Given the description of an element on the screen output the (x, y) to click on. 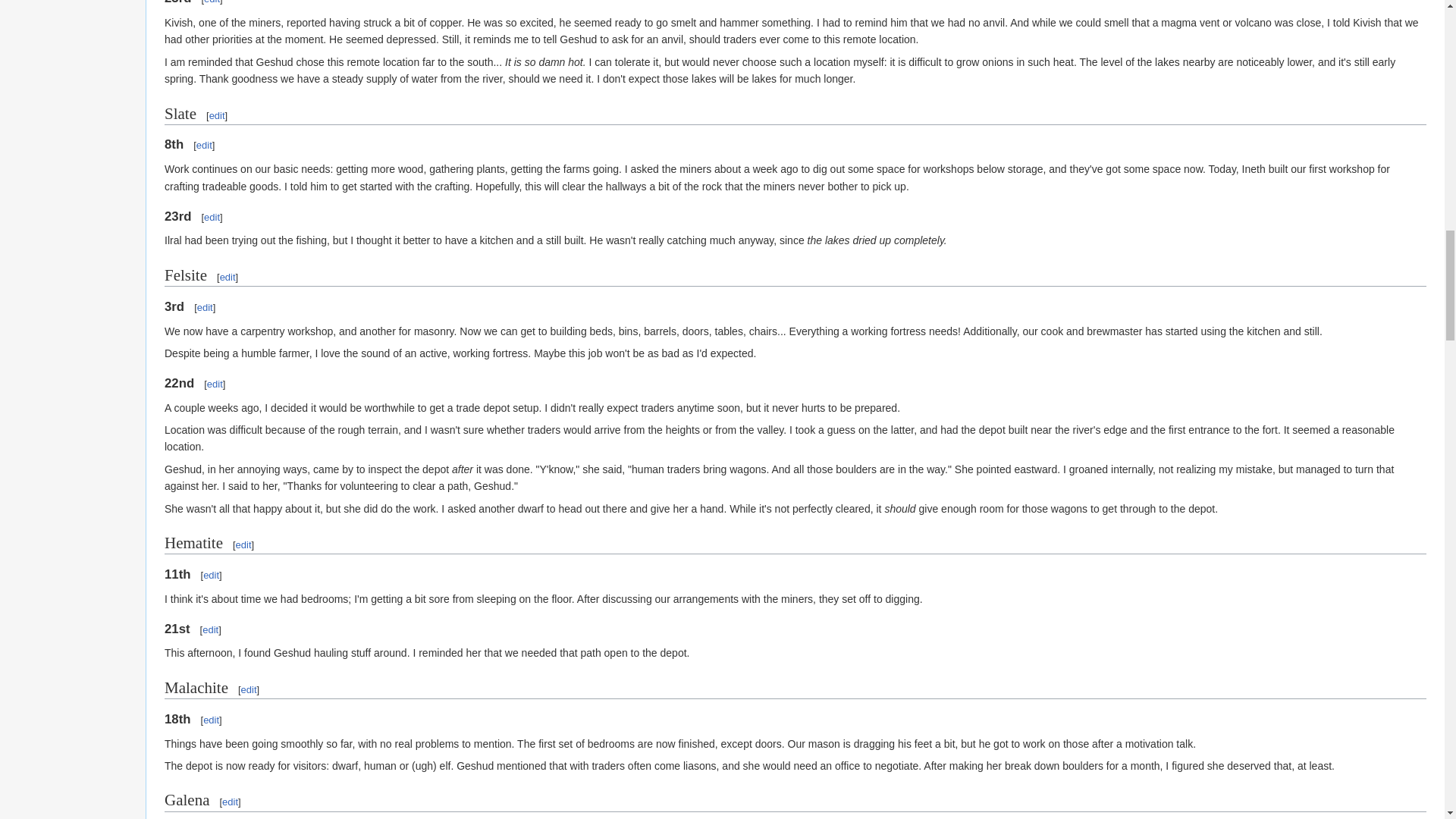
Edit section: 3rd (204, 307)
Edit section: Slate (217, 115)
Edit section: Felsite (227, 276)
Edit section: 23rd (211, 216)
Edit section: 8th (204, 144)
Edit section: 23rd (211, 2)
